Given the description of an element on the screen output the (x, y) to click on. 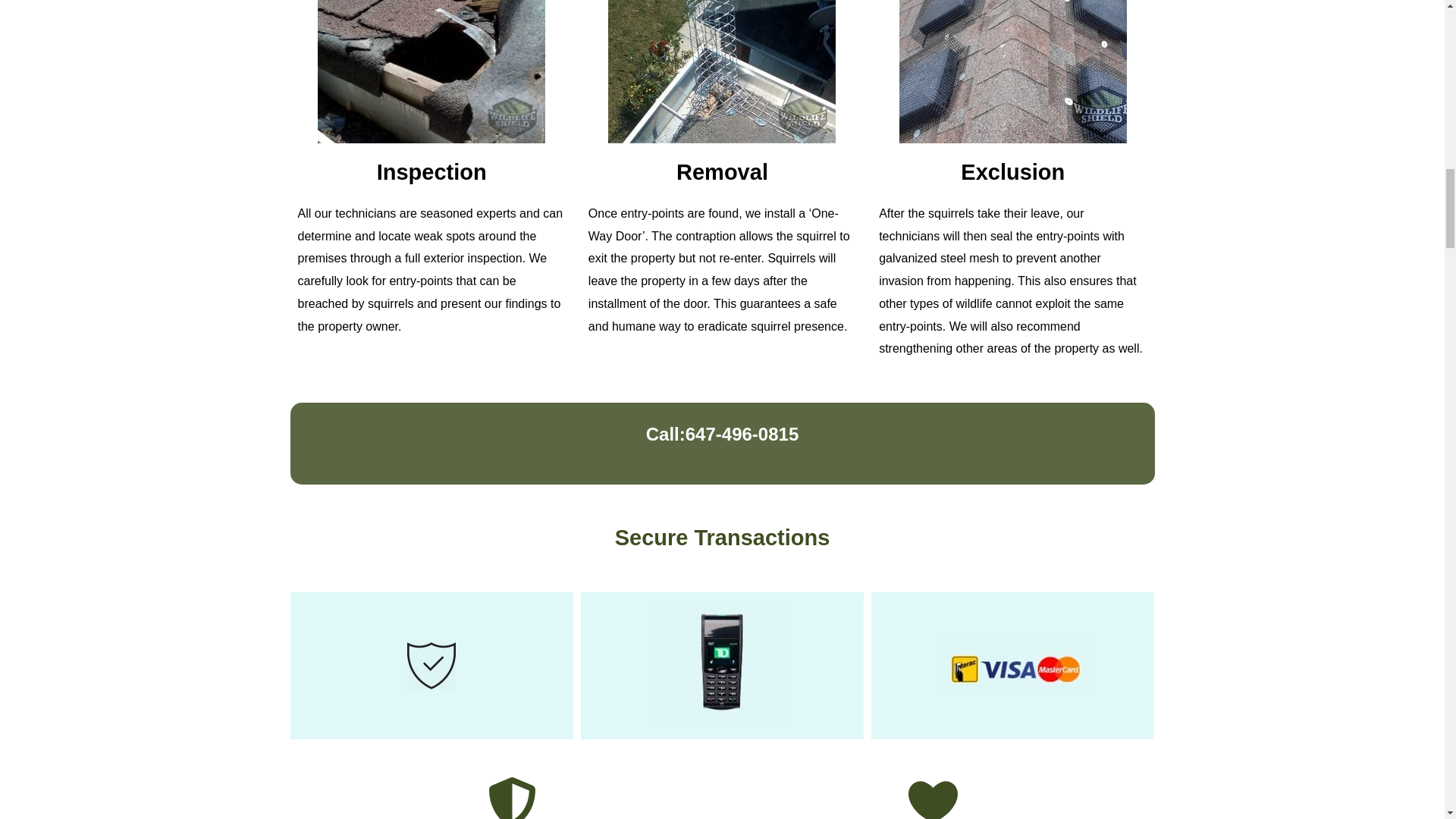
Call: (665, 434)
